Given the description of an element on the screen output the (x, y) to click on. 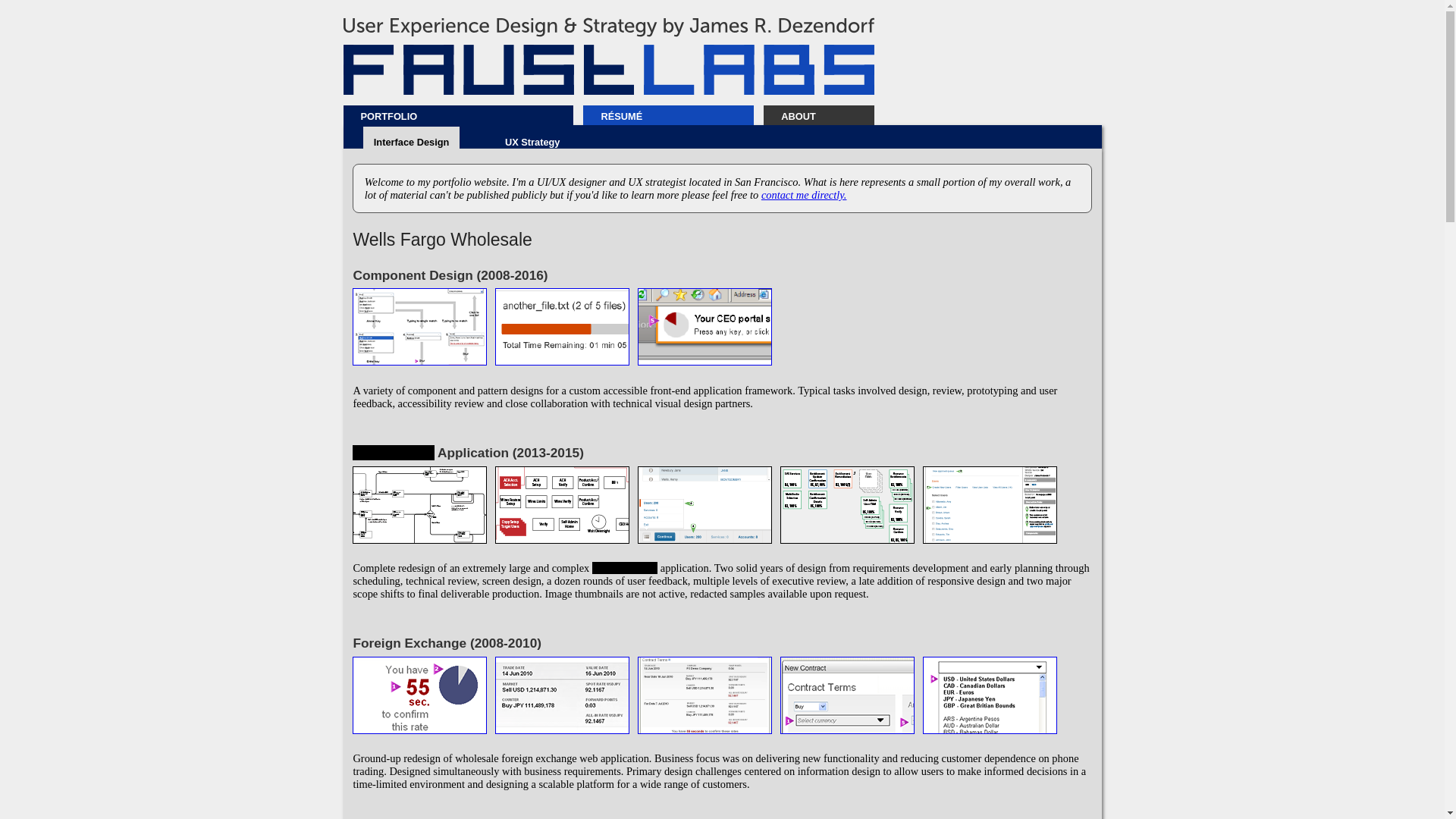
PORTFOLIO (466, 116)
ABOUT (826, 116)
contact me directly. (804, 194)
UX Strategy (532, 142)
Interface Design (410, 142)
